Given the description of an element on the screen output the (x, y) to click on. 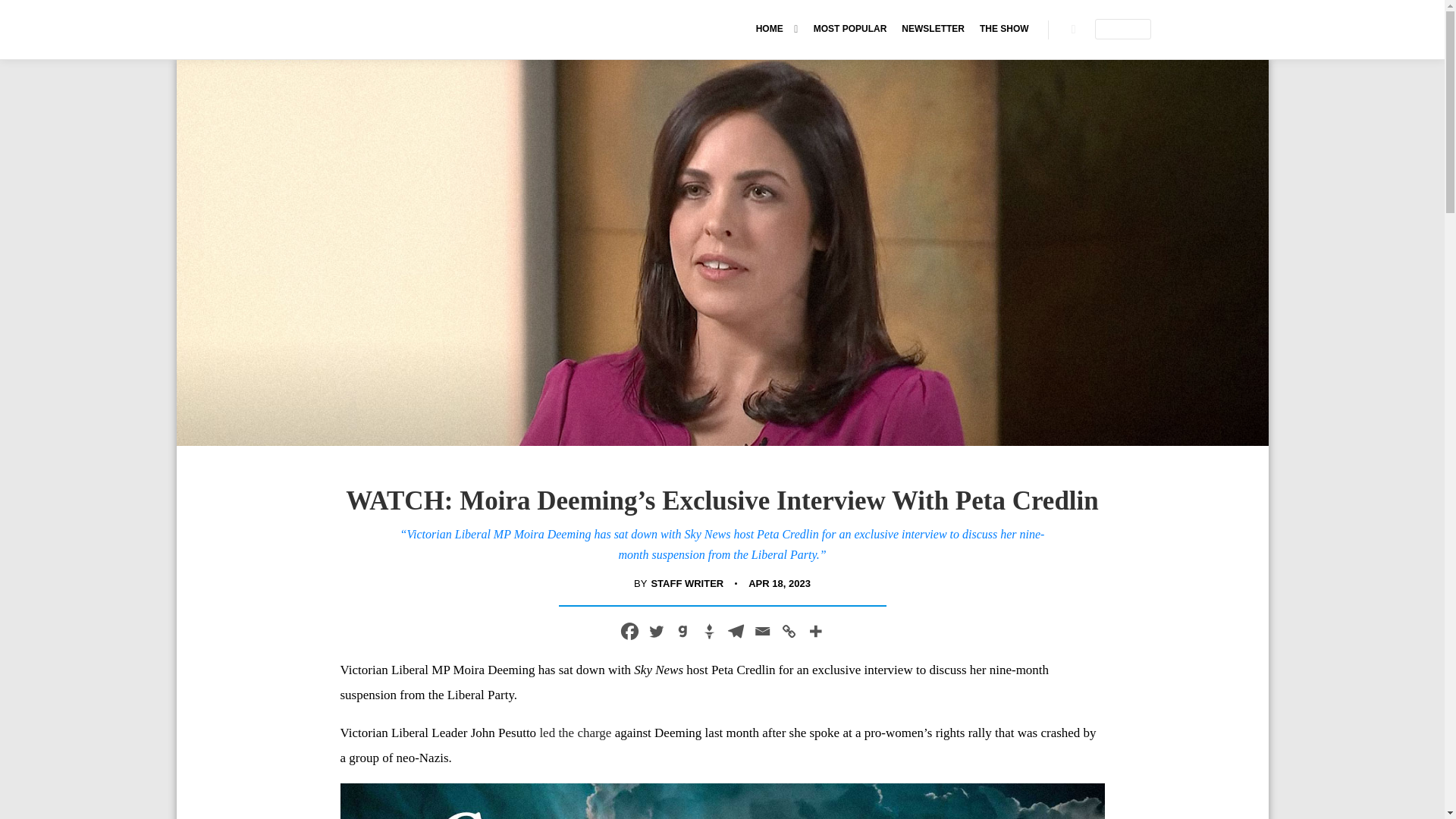
NEWSLETTER (932, 29)
HELP US (1122, 28)
Email (762, 630)
Telegram (734, 630)
Twitter (656, 630)
Search (1073, 29)
THE SHOW (1004, 29)
led the charge (574, 732)
Facebook (628, 630)
Gettr (708, 630)
Search (1073, 29)
Copy Link (787, 630)
Gab (681, 630)
MOST POPULAR (850, 29)
STAFF WRITER (686, 583)
